Given the description of an element on the screen output the (x, y) to click on. 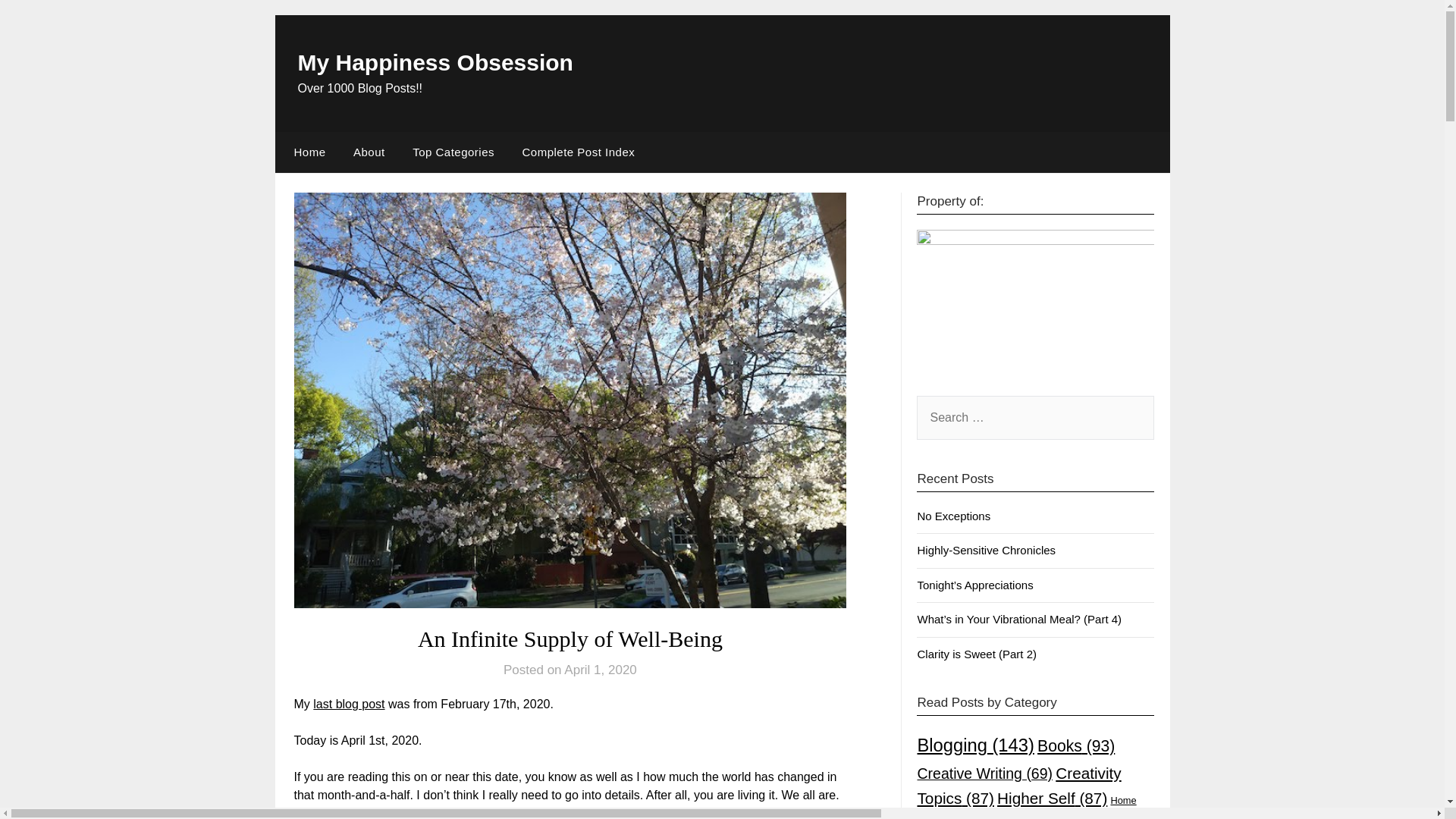
No Exceptions (953, 515)
last blog post (348, 703)
Search (38, 22)
My Happiness Obsession (434, 62)
Top Categories (453, 151)
Home (306, 151)
Highly-Sensitive Chronicles (986, 549)
About (368, 151)
Complete Post Index (577, 151)
